Given the description of an element on the screen output the (x, y) to click on. 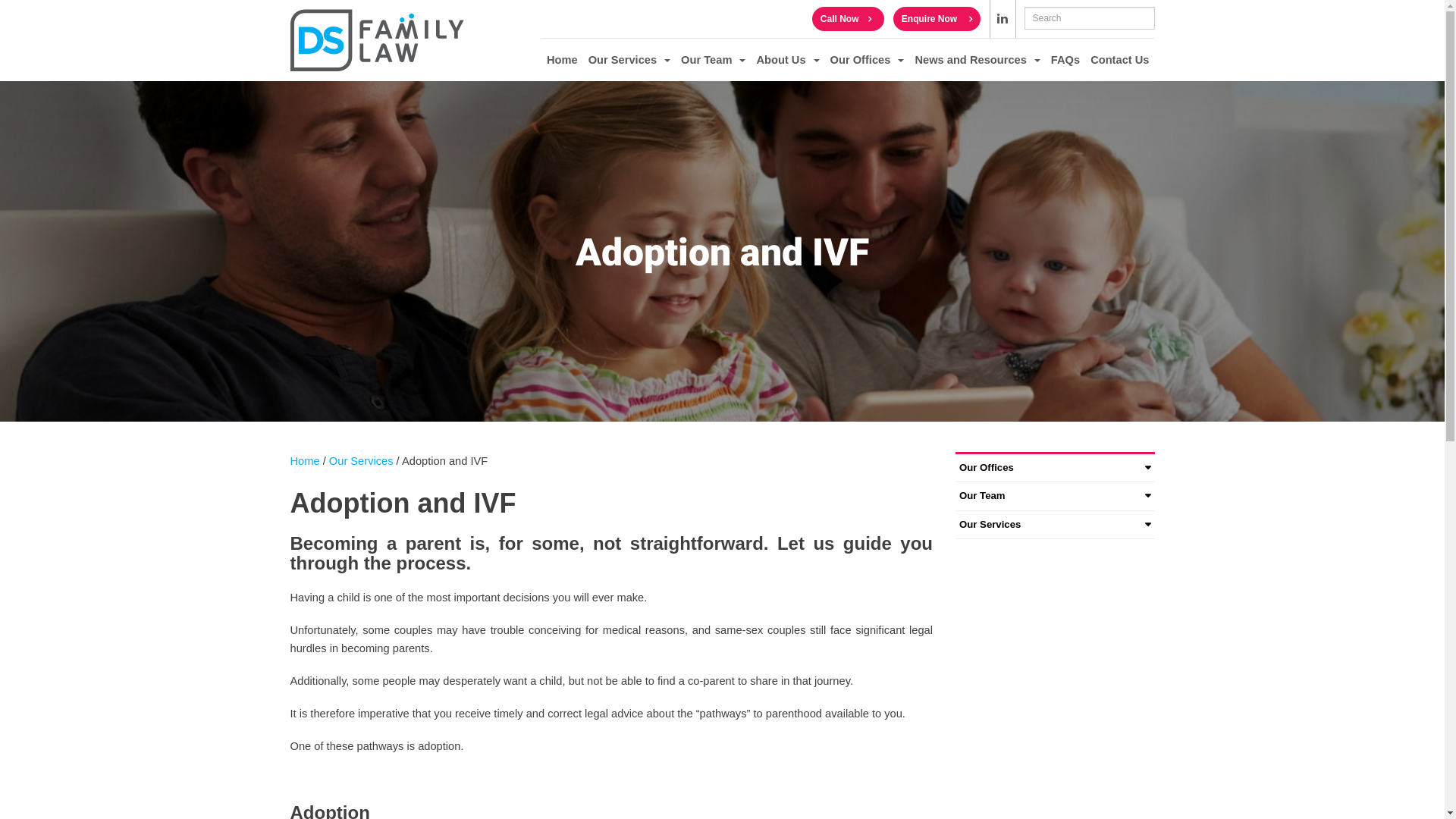
Our Team Element type: text (1054, 496)
Our Team Element type: text (712, 59)
Enquire Now Element type: text (936, 18)
Our Offices Element type: text (1054, 468)
Contact Us Element type: text (1119, 59)
Our Services Element type: text (1054, 525)
Our Services Element type: text (629, 59)
Our Offices Element type: text (867, 59)
News and Resources Element type: text (976, 59)
Our Services Element type: text (361, 461)
About Us Element type: text (787, 59)
Home Element type: text (562, 59)
Home Element type: text (304, 461)
FAQs Element type: text (1065, 59)
